Given the description of an element on the screen output the (x, y) to click on. 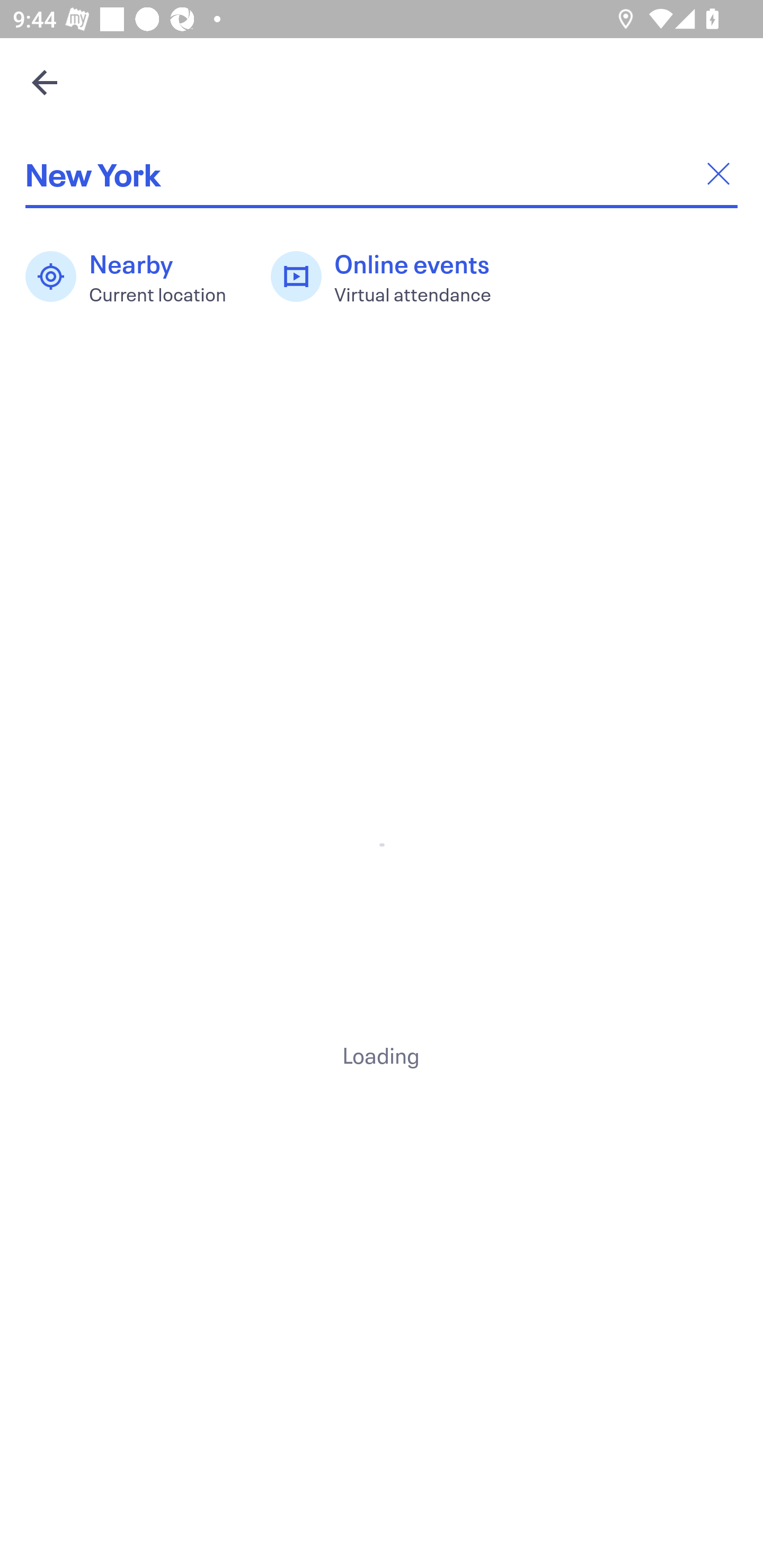
Navigate up (44, 82)
New York (381, 173)
Nearby Current location (135, 276)
Online events Virtual attendance (390, 276)
